Given the description of an element on the screen output the (x, y) to click on. 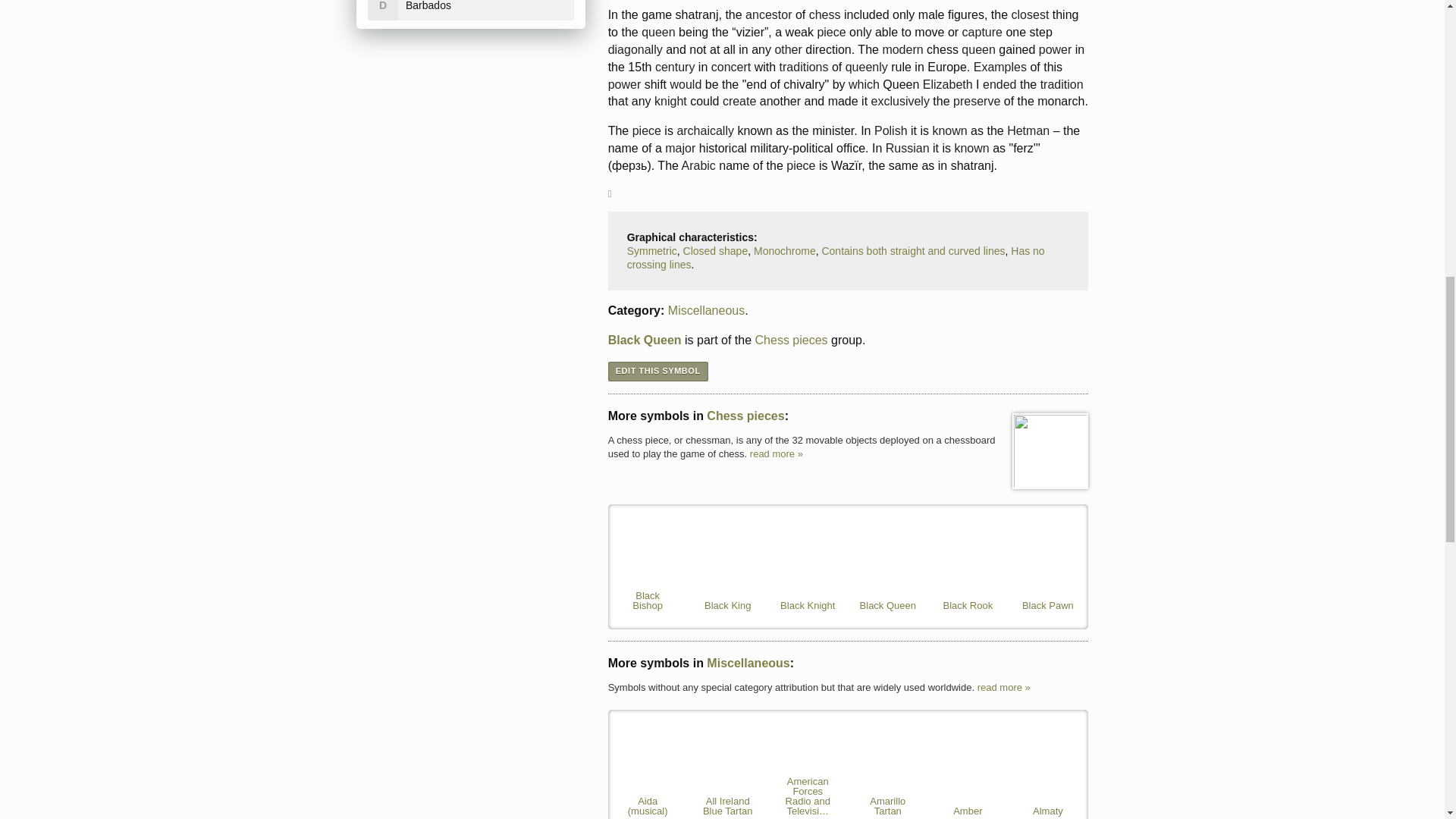
Chess pieces (1049, 450)
